Given the description of an element on the screen output the (x, y) to click on. 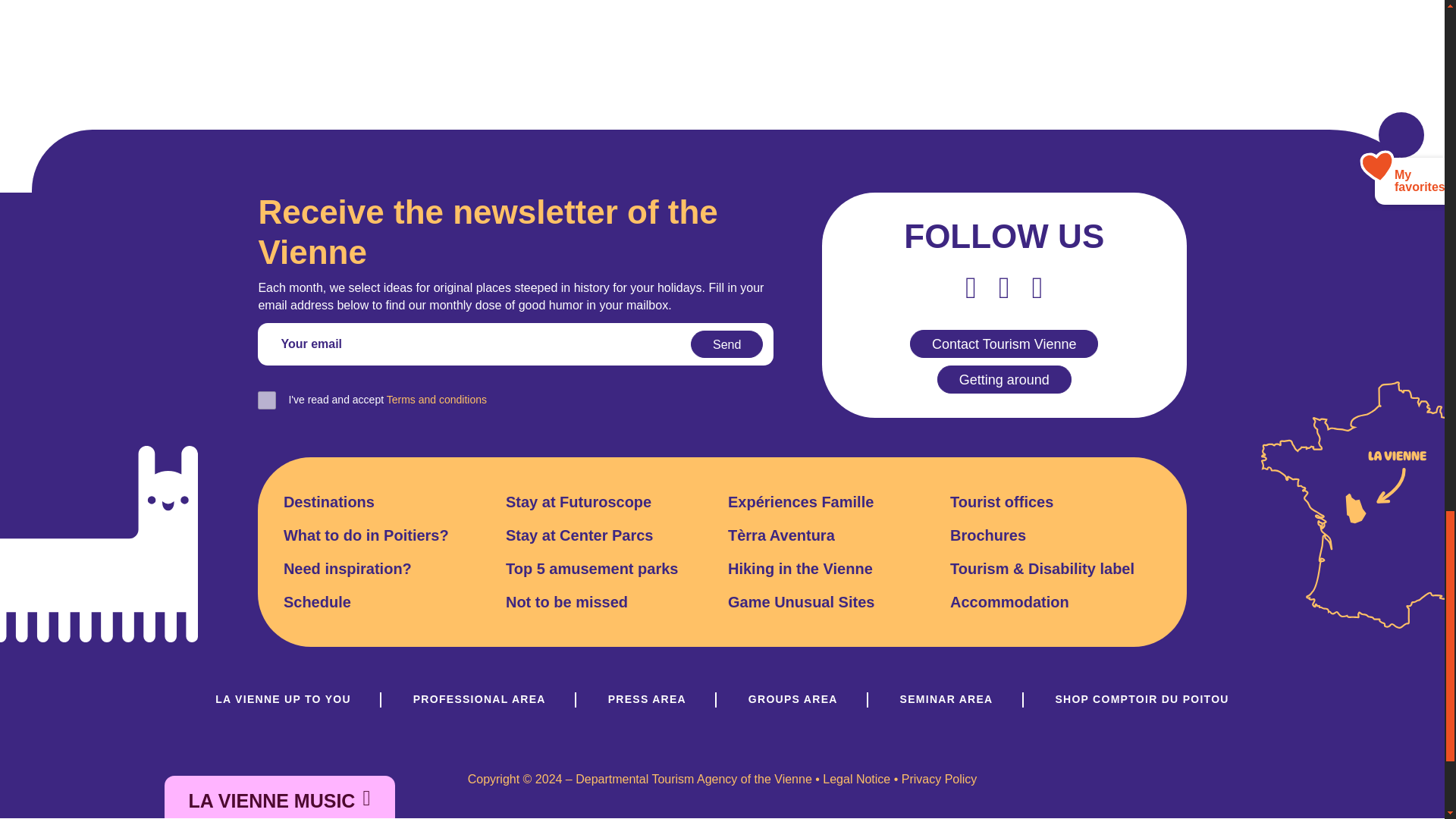
Instagram (1037, 287)
Need inspiration? (347, 568)
What to do in Poitiers? (365, 535)
1 (266, 400)
Youtube (1004, 287)
Contact Tourism Vienne (1003, 343)
Destinations (328, 501)
Send (726, 343)
Getting around (1004, 379)
Facebook (970, 287)
